Given the description of an element on the screen output the (x, y) to click on. 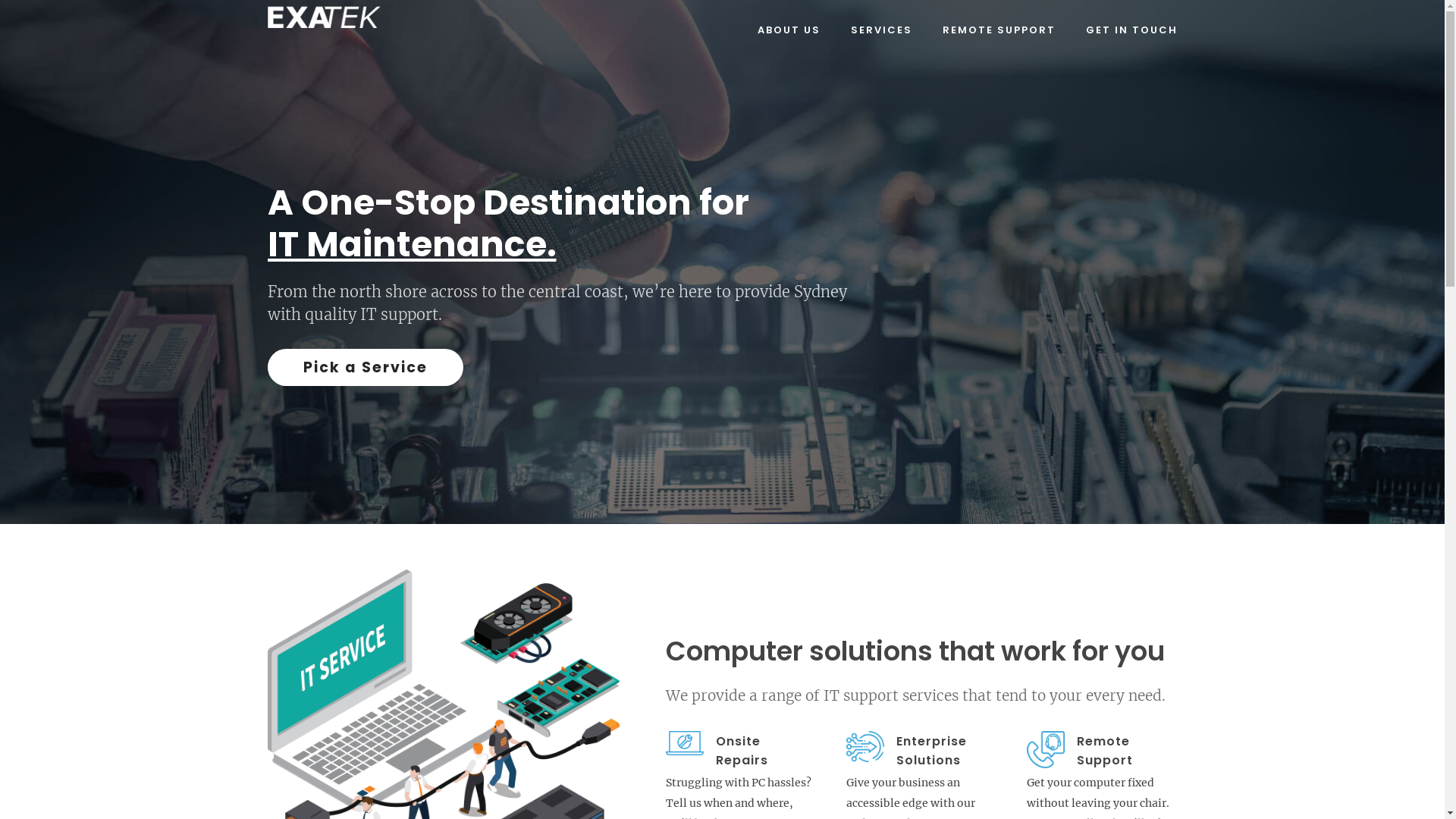
GET IN TOUCH Element type: text (1131, 30)
ABOUT US Element type: text (787, 30)
SERVICES Element type: text (881, 30)
REMOTE SUPPORT Element type: text (997, 30)
Pick a Service Element type: text (364, 366)
